Given the description of an element on the screen output the (x, y) to click on. 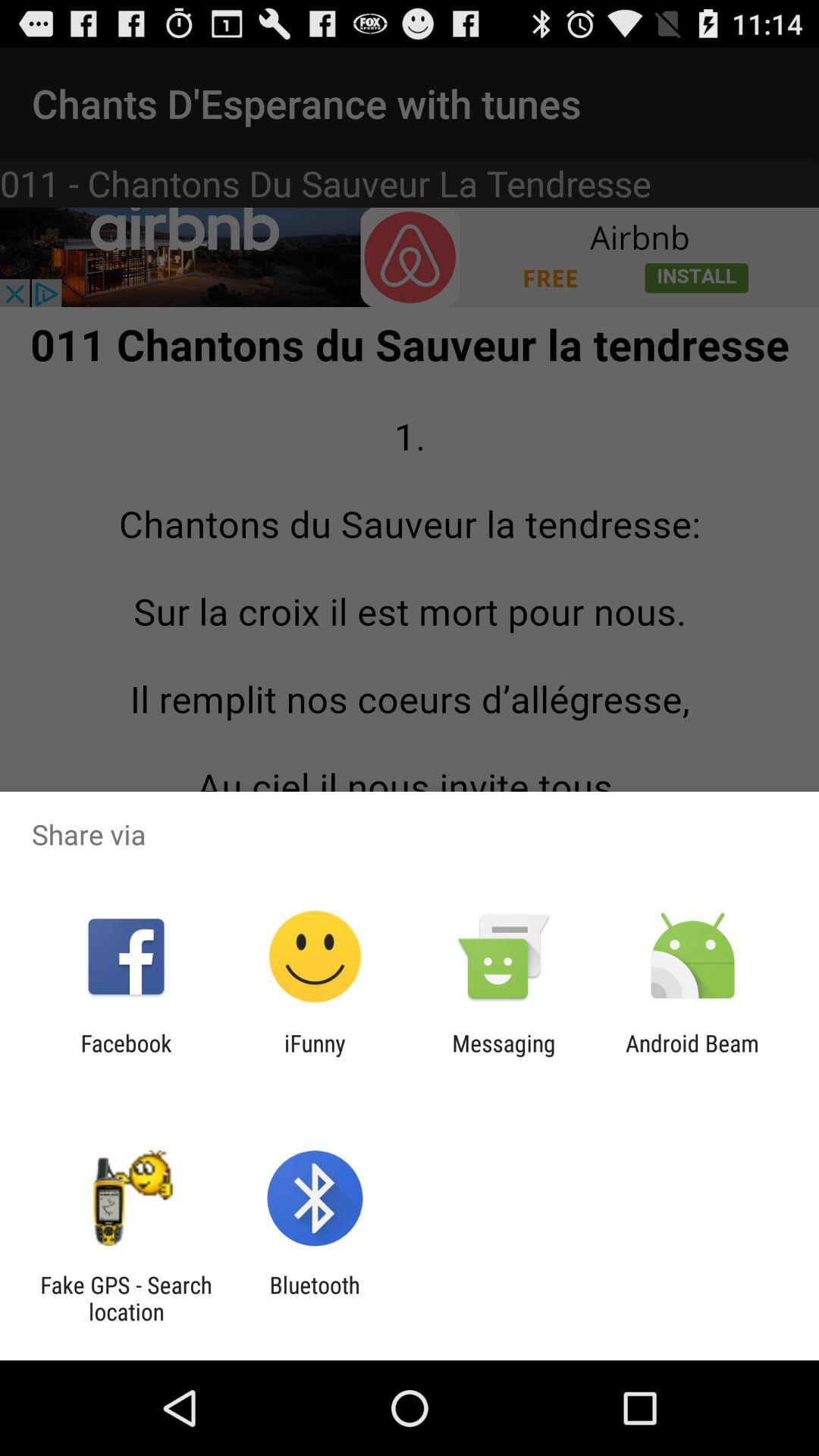
press messaging item (503, 1056)
